Given the description of an element on the screen output the (x, y) to click on. 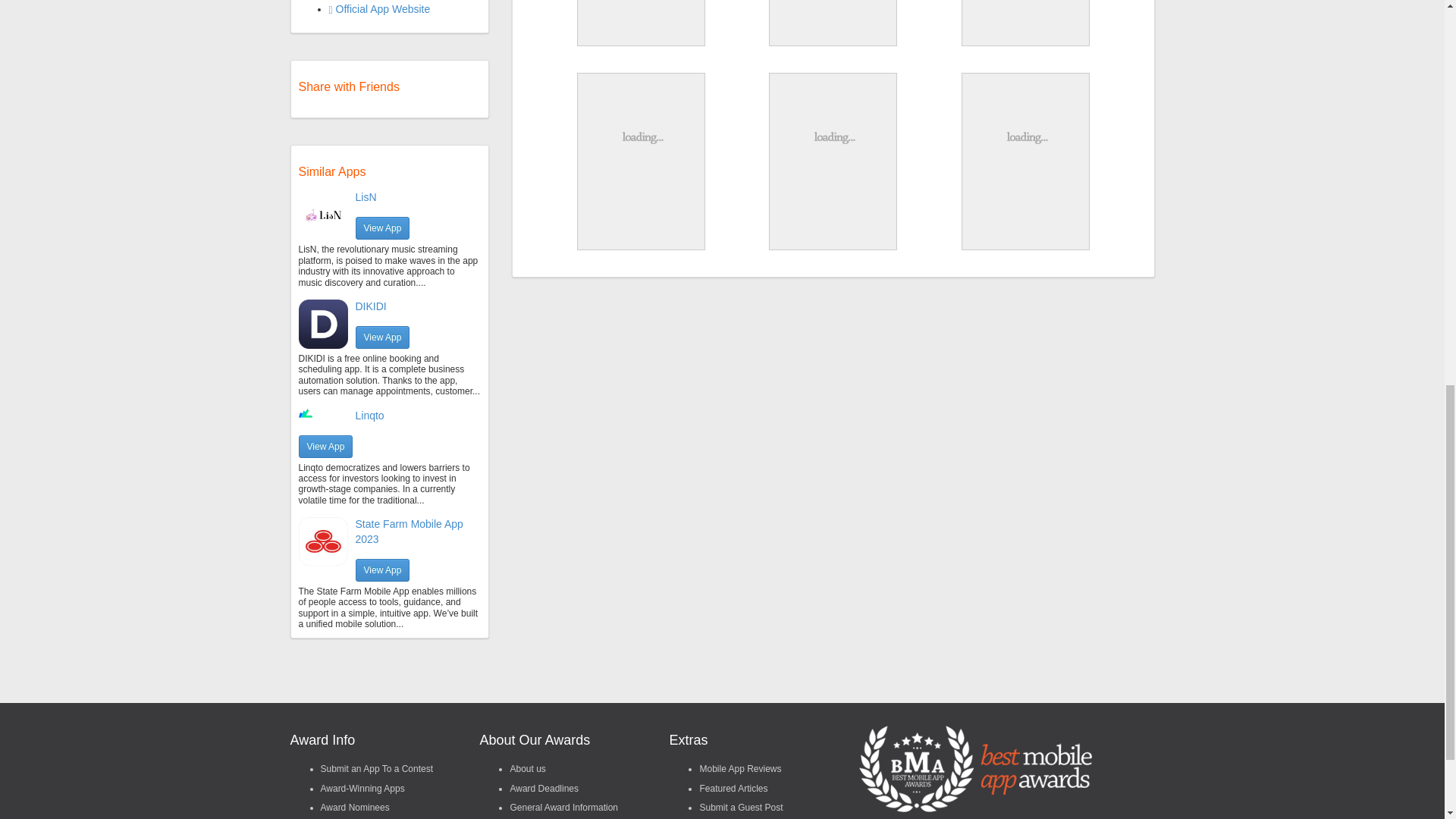
DIKIDI (370, 306)
View App (325, 445)
Linqto (369, 415)
Divvy - Portfolio mobile screenshot 1 (641, 22)
View App (382, 228)
View App (382, 336)
LisN (365, 196)
Official App Website (379, 9)
